Given the description of an element on the screen output the (x, y) to click on. 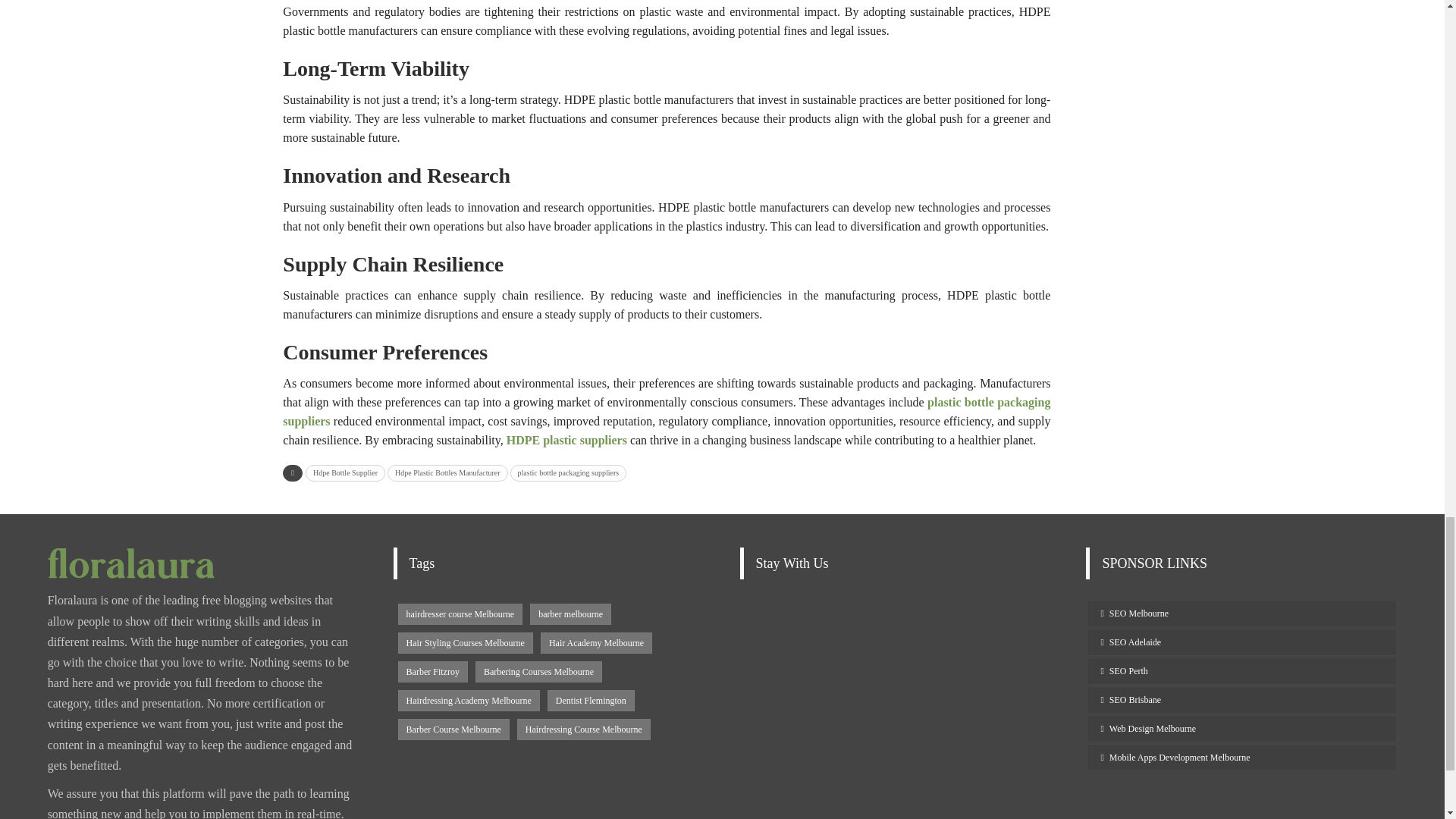
Hdpe Plastic Bottles Manufacturer (447, 473)
plastic bottle packaging suppliers (665, 411)
HDPE plastic suppliers (566, 440)
plastic bottle packaging suppliers (569, 473)
Hdpe Bottle Supplier (345, 473)
